Given the description of an element on the screen output the (x, y) to click on. 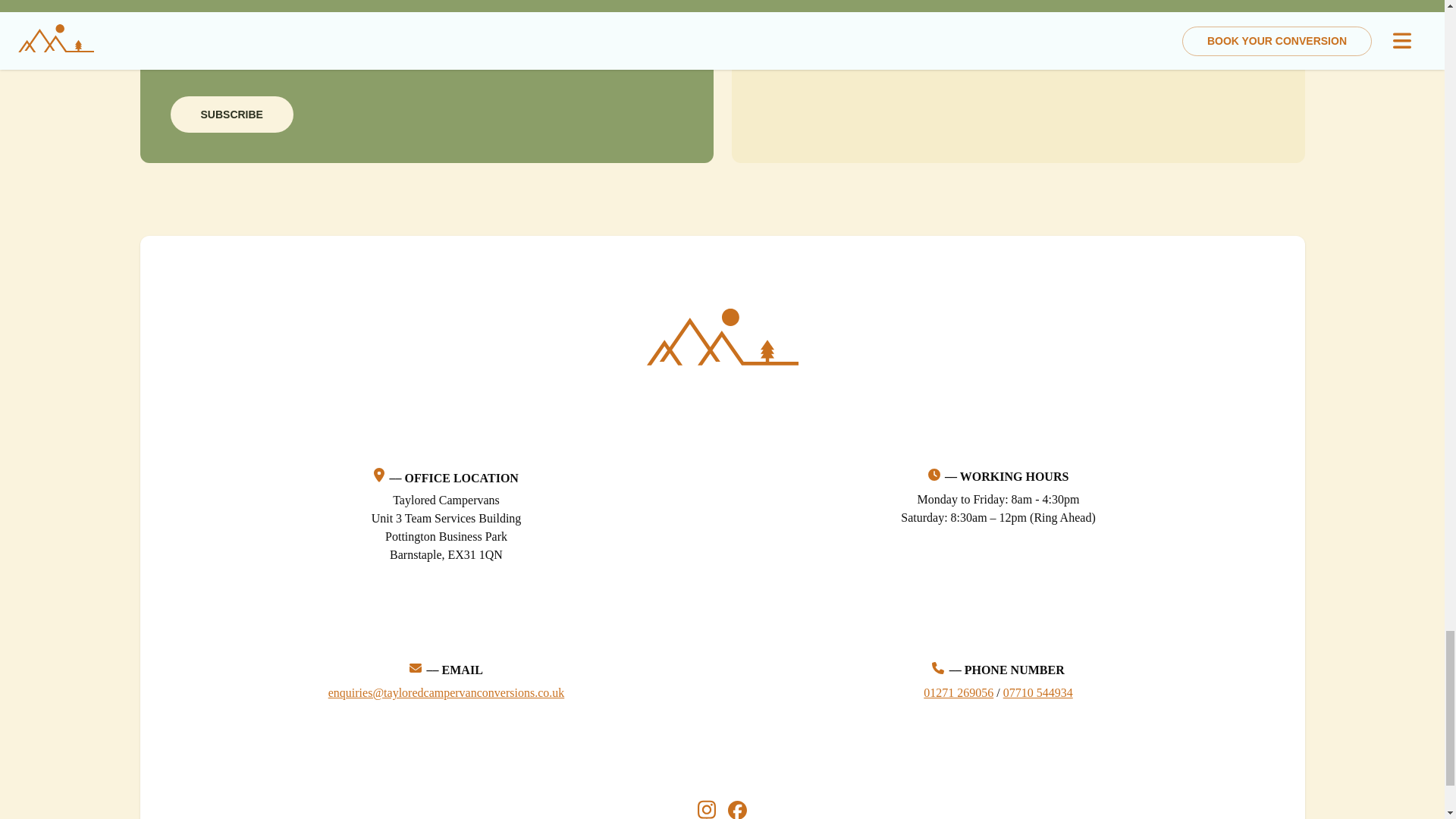
3D BUILDER (823, 42)
3D BUILDER (829, 41)
GET IN TOUCH (967, 41)
GET IN TOUCH (967, 42)
01271 269056 (957, 692)
07710 544934 (1038, 692)
SUBSCRIBE (231, 114)
